Given the description of an element on the screen output the (x, y) to click on. 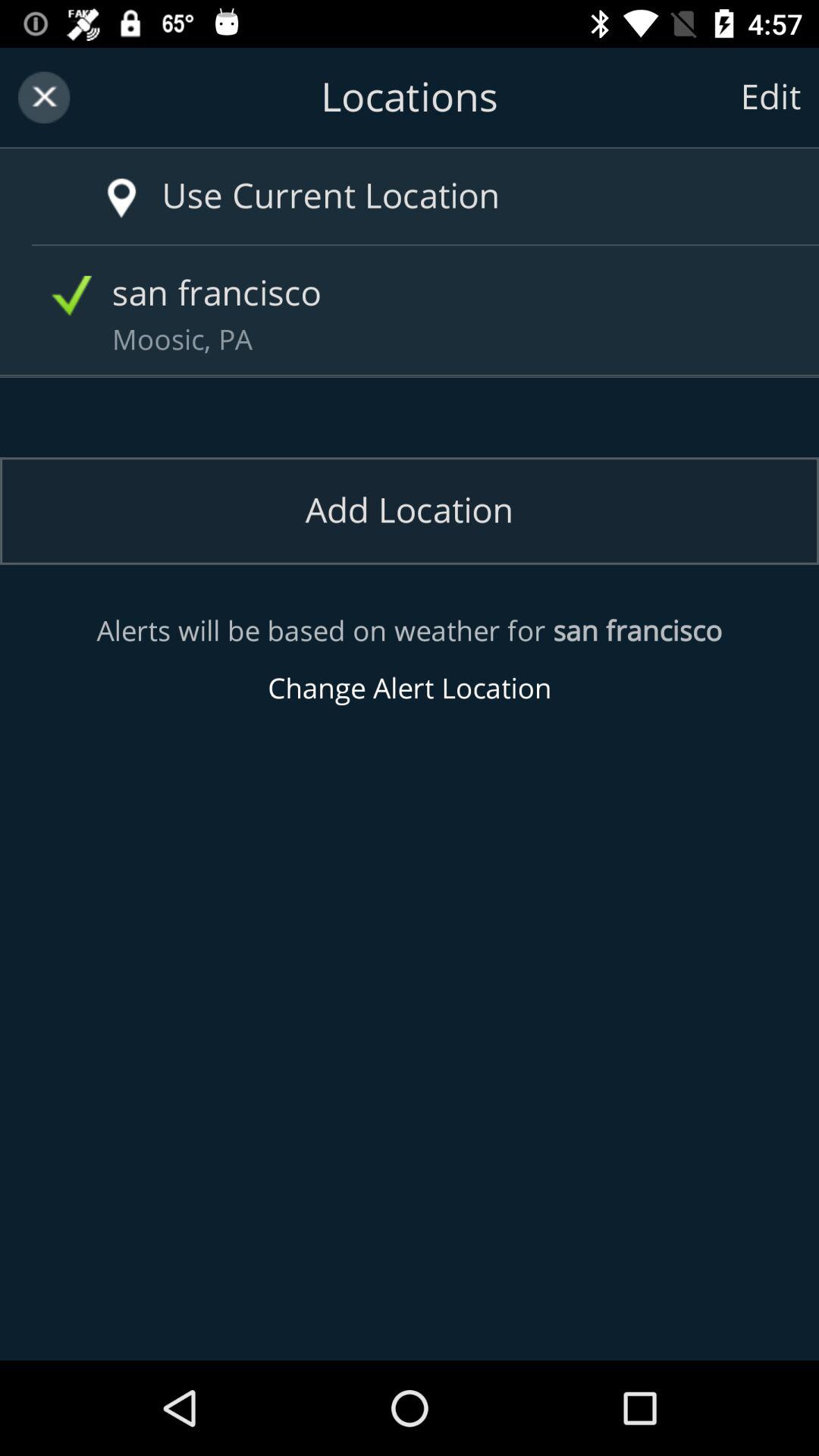
exit (43, 97)
